Given the description of an element on the screen output the (x, y) to click on. 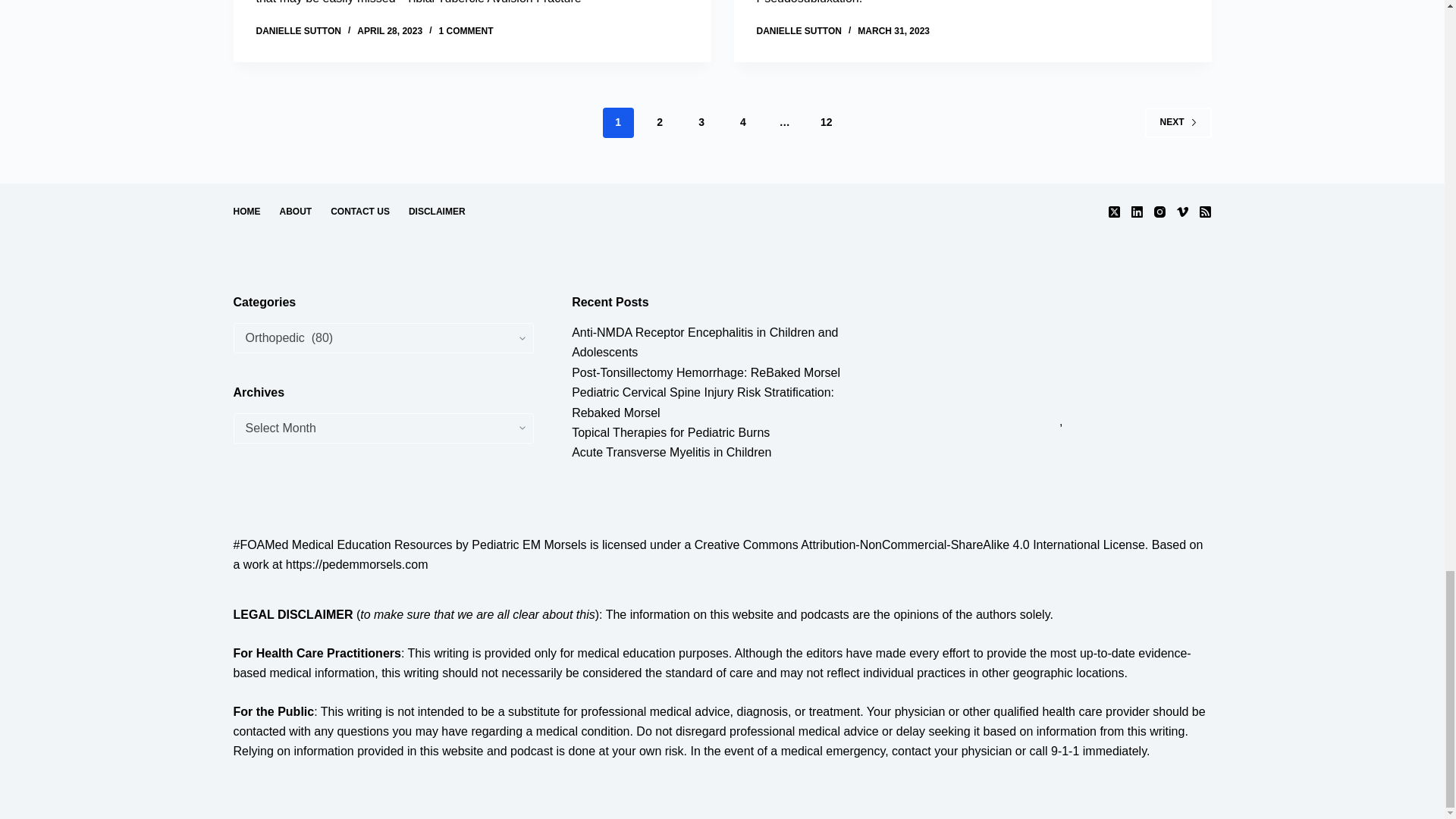
Posts by Danielle Sutton (799, 30)
pedemmorsels (1061, 350)
Posts by Danielle Sutton (298, 30)
